Given the description of an element on the screen output the (x, y) to click on. 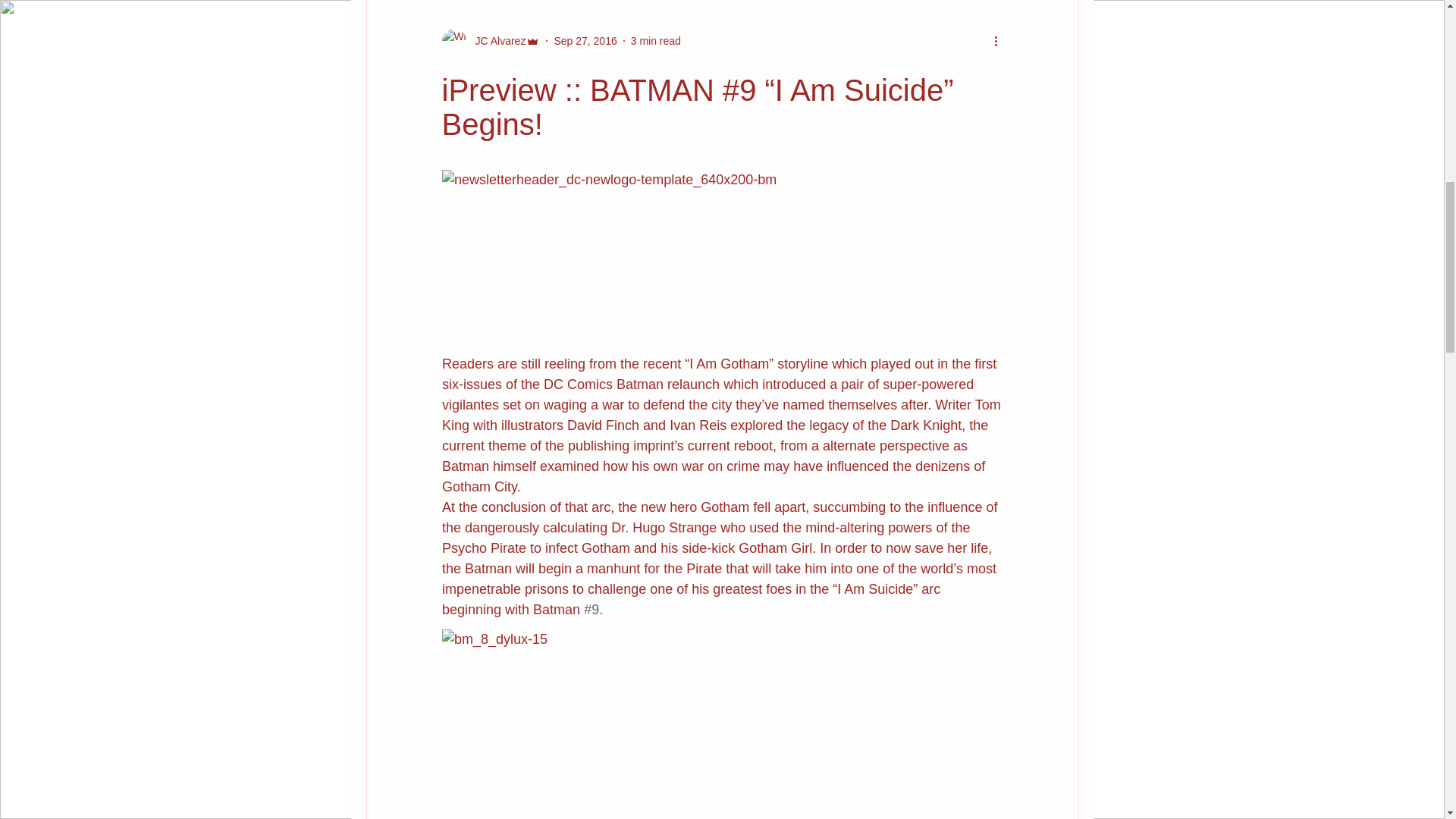
Sep 27, 2016 (584, 40)
3 min read (655, 40)
JC Alvarez (495, 41)
